Given the description of an element on the screen output the (x, y) to click on. 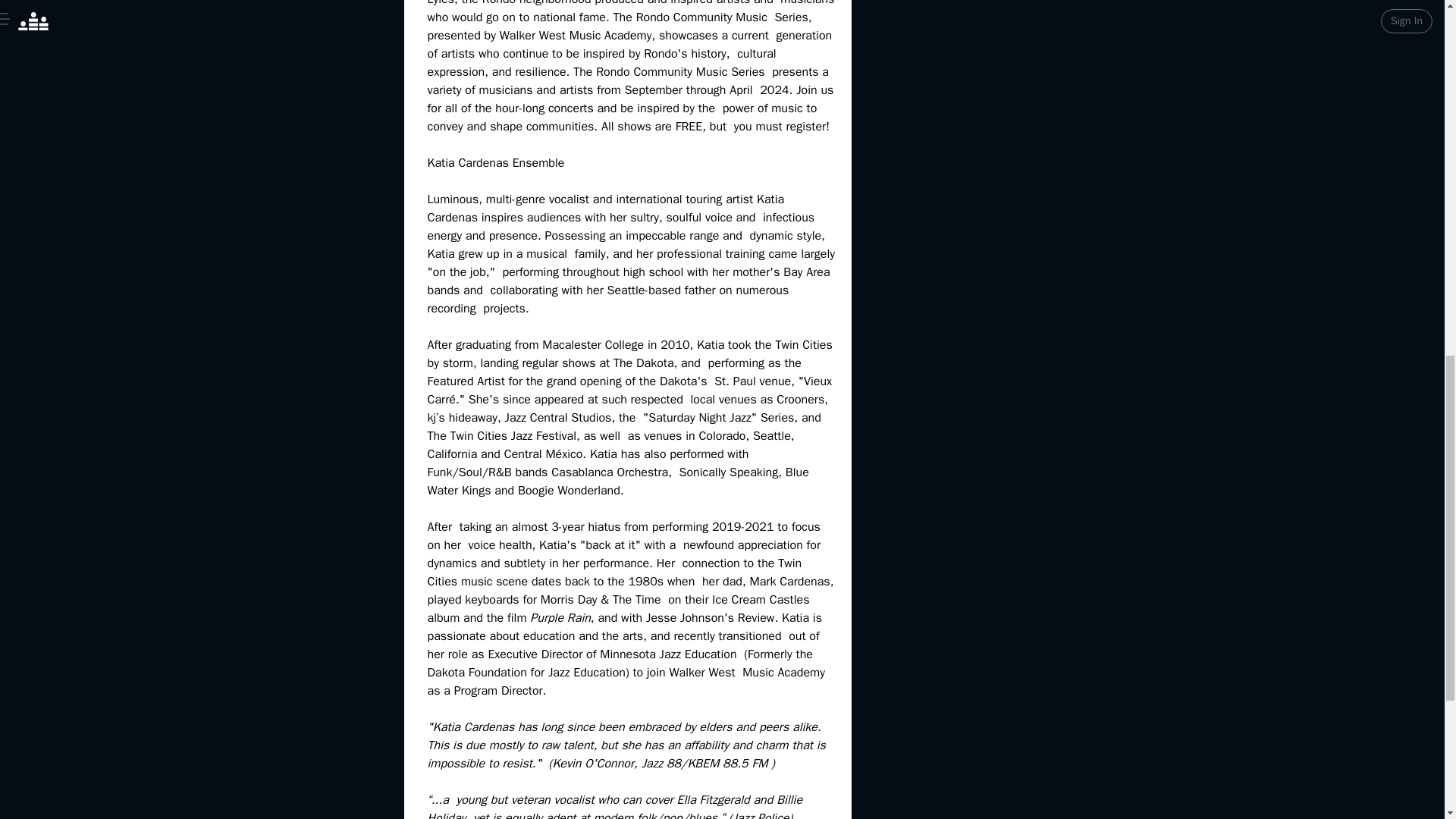
Open in Android app (721, 39)
